Given the description of an element on the screen output the (x, y) to click on. 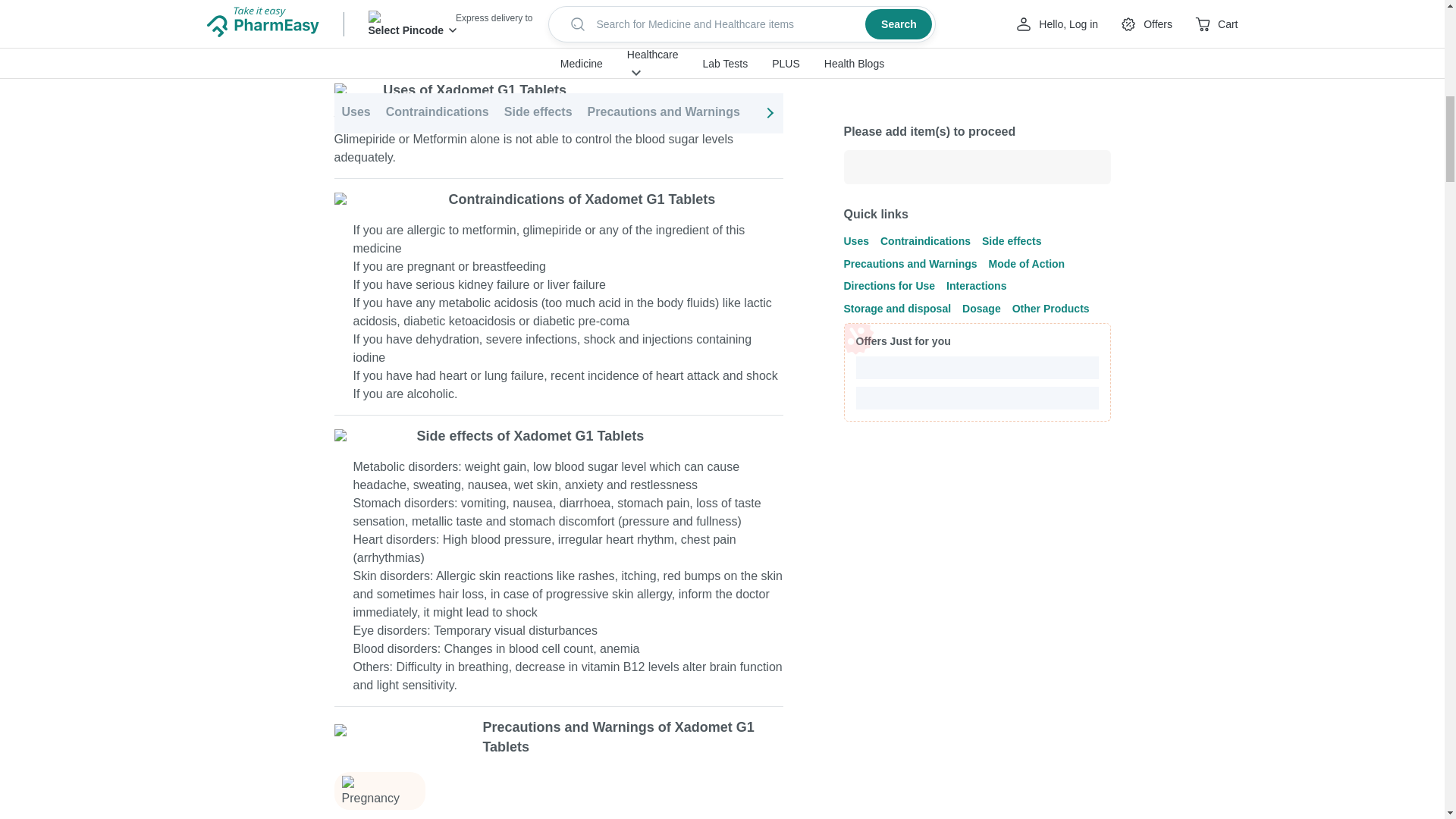
Precautions and Warnings (663, 30)
Mode of Action (799, 30)
Interactions (1011, 30)
Storage and disposal (1121, 30)
Uses (355, 30)
Dosage (1220, 30)
Directions for Use (909, 30)
Contraindications (437, 30)
Side effects (537, 30)
Other Products (1302, 30)
